Given the description of an element on the screen output the (x, y) to click on. 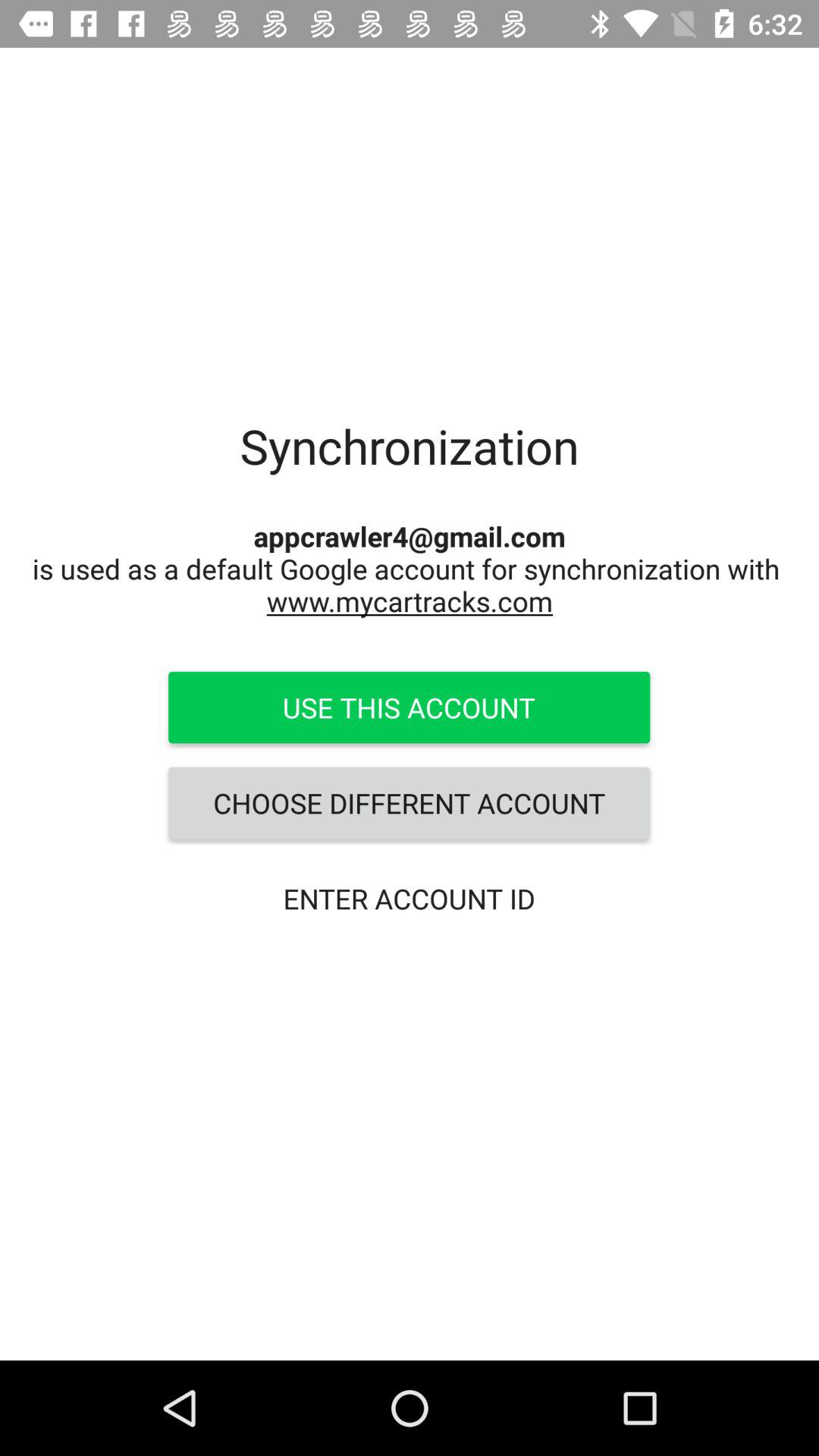
turn on the choose different account item (409, 802)
